Given the description of an element on the screen output the (x, y) to click on. 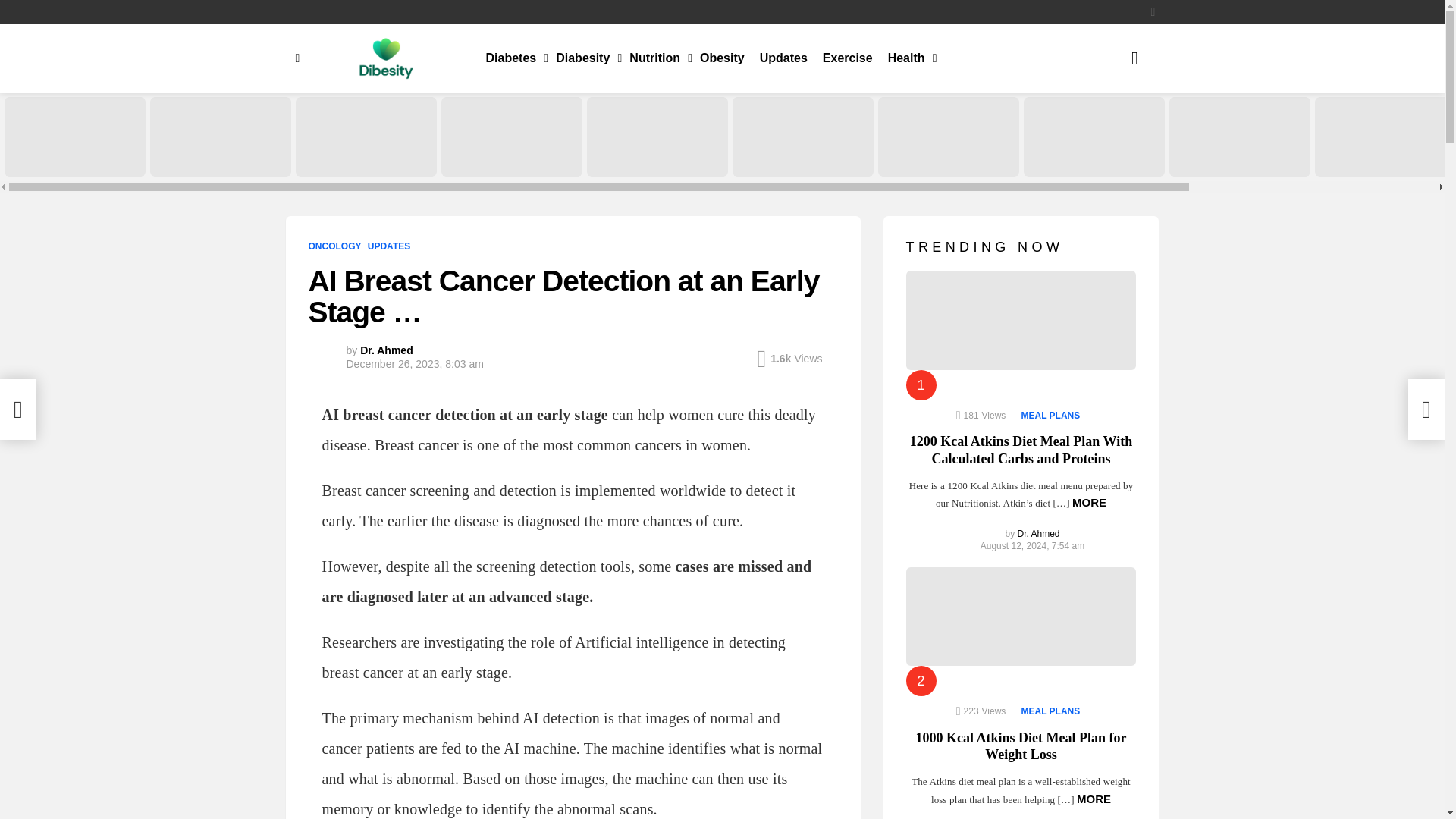
Updates (783, 57)
Diabesity (584, 57)
Diabetes (512, 57)
1000 Kcal Atkins Diet Meal Plan for Weight Loss (220, 136)
Exercise (847, 57)
Menu (296, 58)
Ozempic Withdrawal Symptoms and Signs: Take This Poll (365, 136)
7-Day1600 Kcal Gluten Free Meal Plan for Celiac Disease (802, 136)
